Given the description of an element on the screen output the (x, y) to click on. 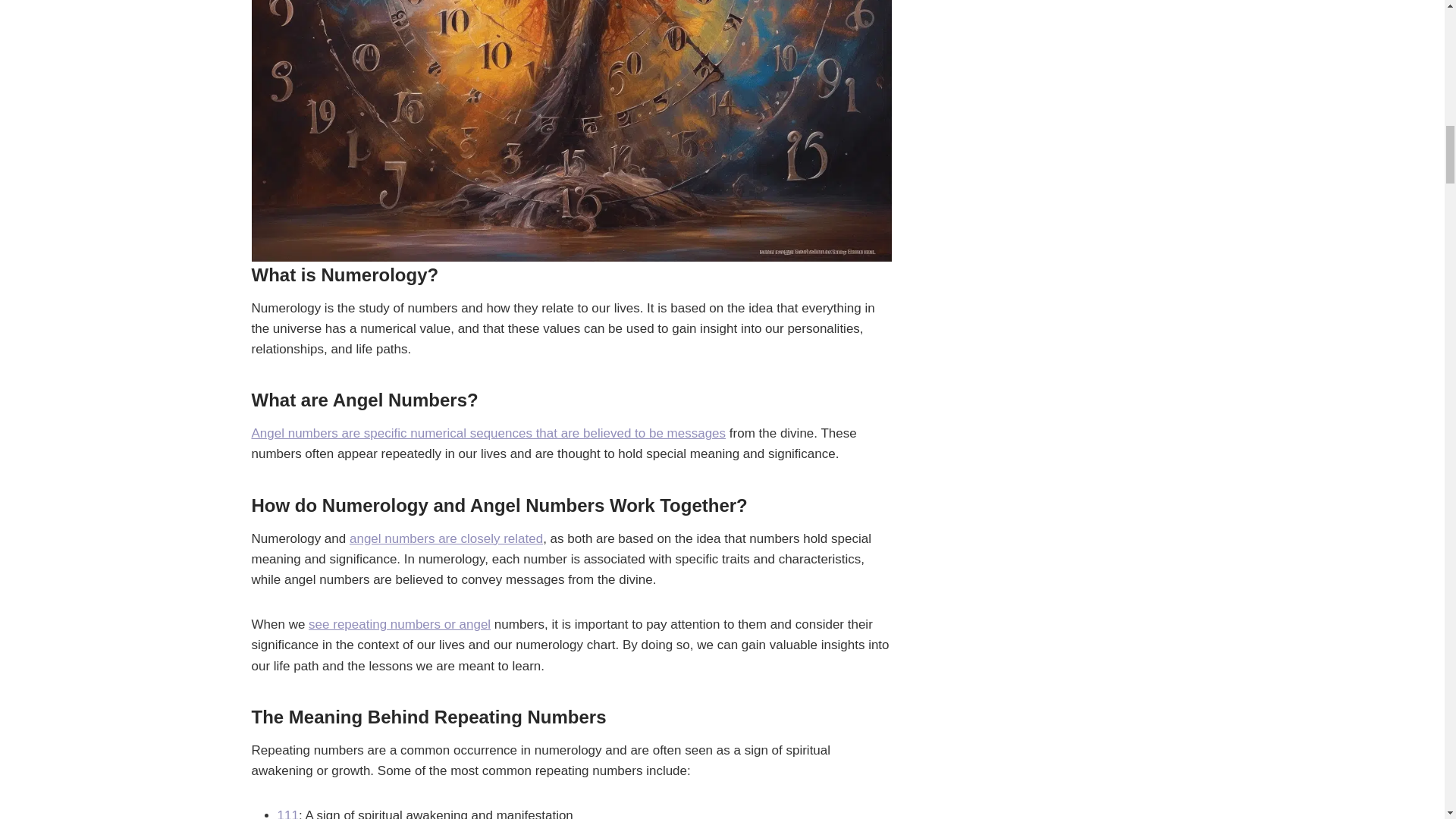
angel numbers are closely related (446, 538)
see repeating numbers or angel (399, 624)
111 (288, 813)
